Given the description of an element on the screen output the (x, y) to click on. 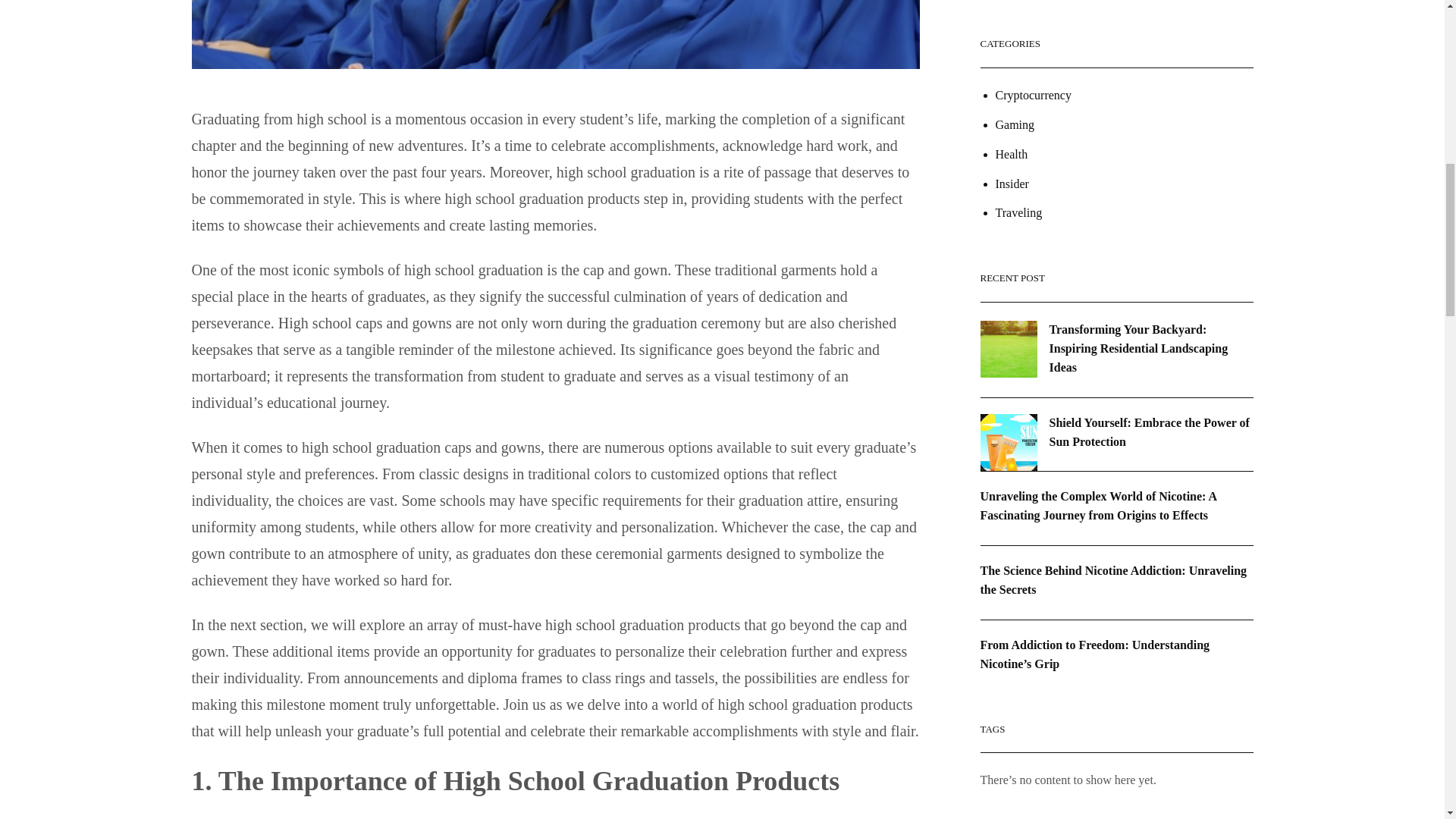
Insider (1010, 184)
Gaming (1013, 125)
Traveling (1018, 212)
Health (1010, 154)
Shield Yourself: Embrace the Power of Sun Protection (1149, 431)
Cryptocurrency (1032, 95)
